Given the description of an element on the screen output the (x, y) to click on. 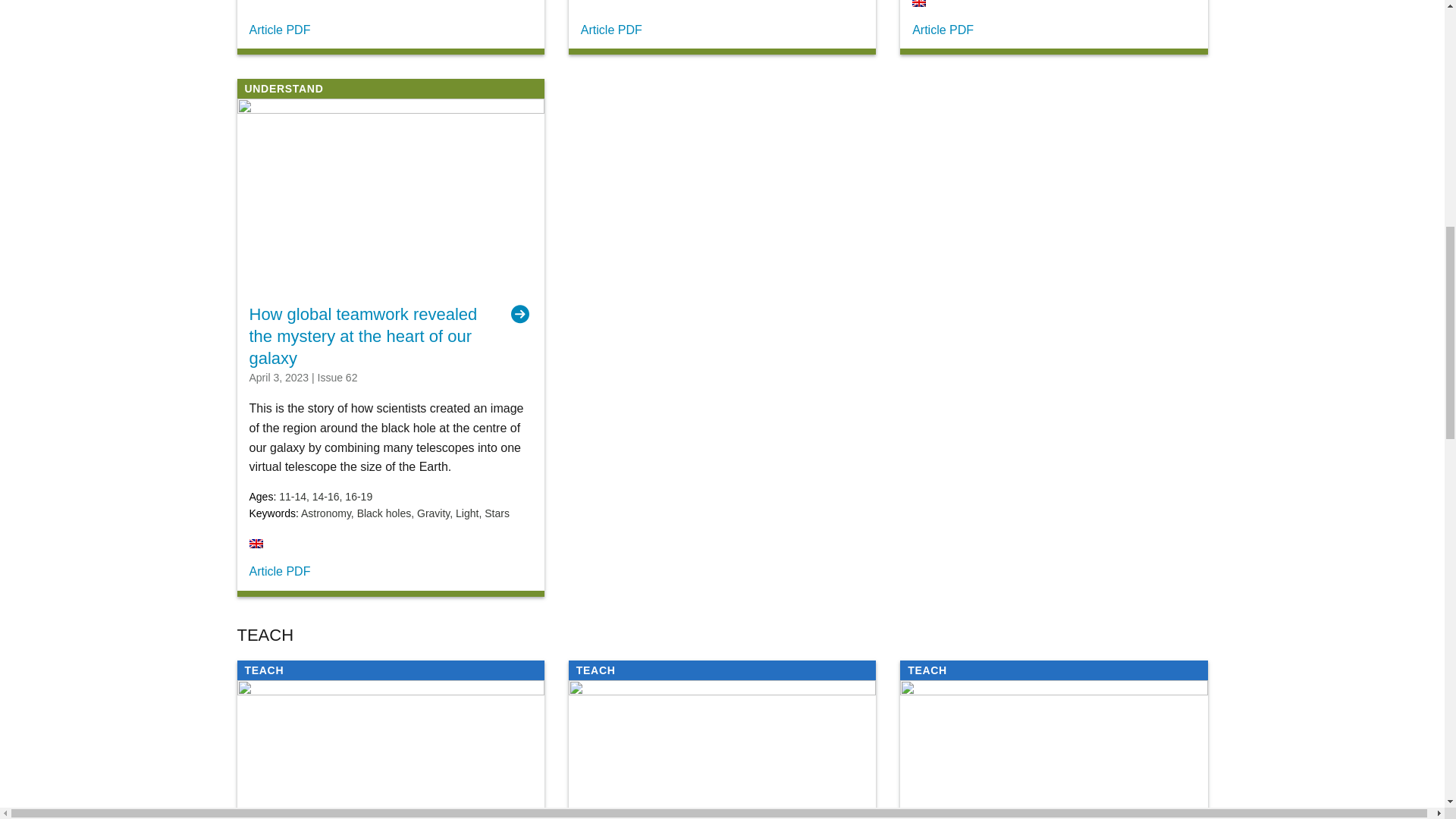
Article PDF (279, 571)
Article PDF (279, 29)
Article PDF (611, 29)
Article PDF (943, 29)
